Given the description of an element on the screen output the (x, y) to click on. 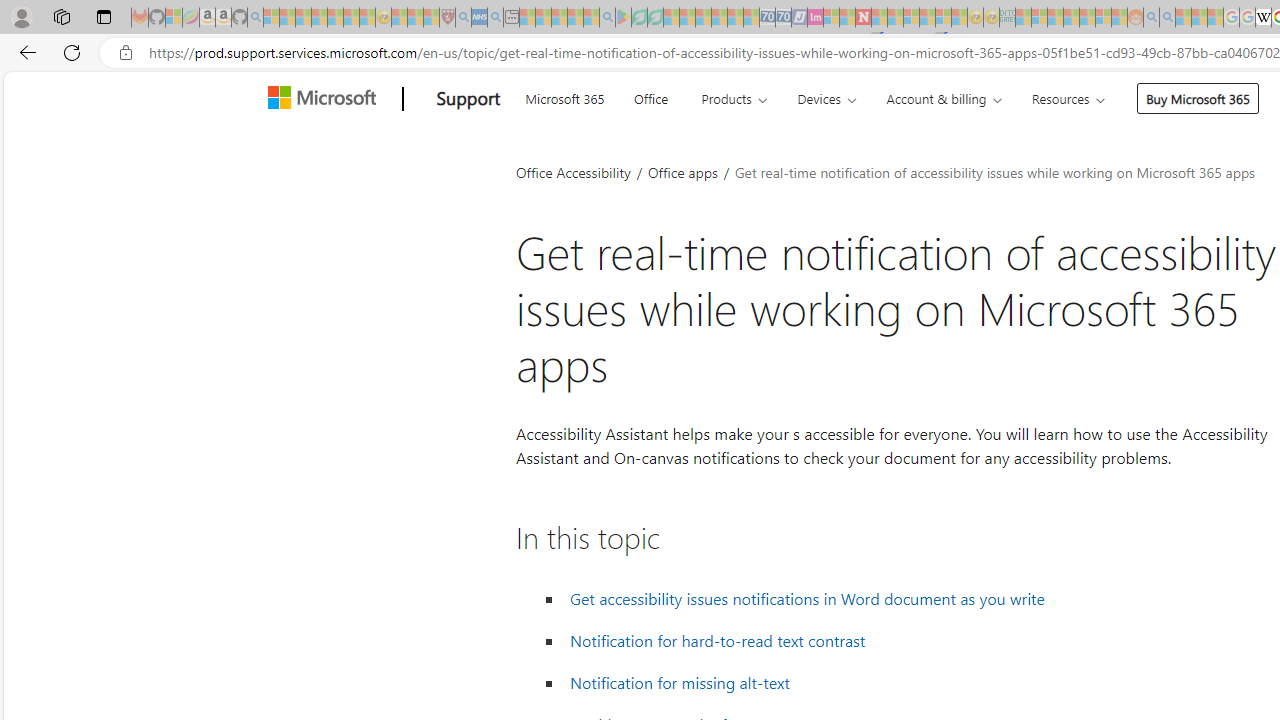
utah sues federal government - Search - Sleeping (495, 17)
 Notification for missing alt-text (679, 682)
Office (650, 96)
Bluey: Let's Play! - Apps on Google Play - Sleeping (623, 17)
Latest Politics News & Archive | Newsweek.com - Sleeping (863, 17)
Terms of Use Agreement - Sleeping (639, 17)
14 Common Myths Debunked By Scientific Facts - Sleeping (895, 17)
The Weather Channel - MSN - Sleeping (303, 17)
